Given the description of an element on the screen output the (x, y) to click on. 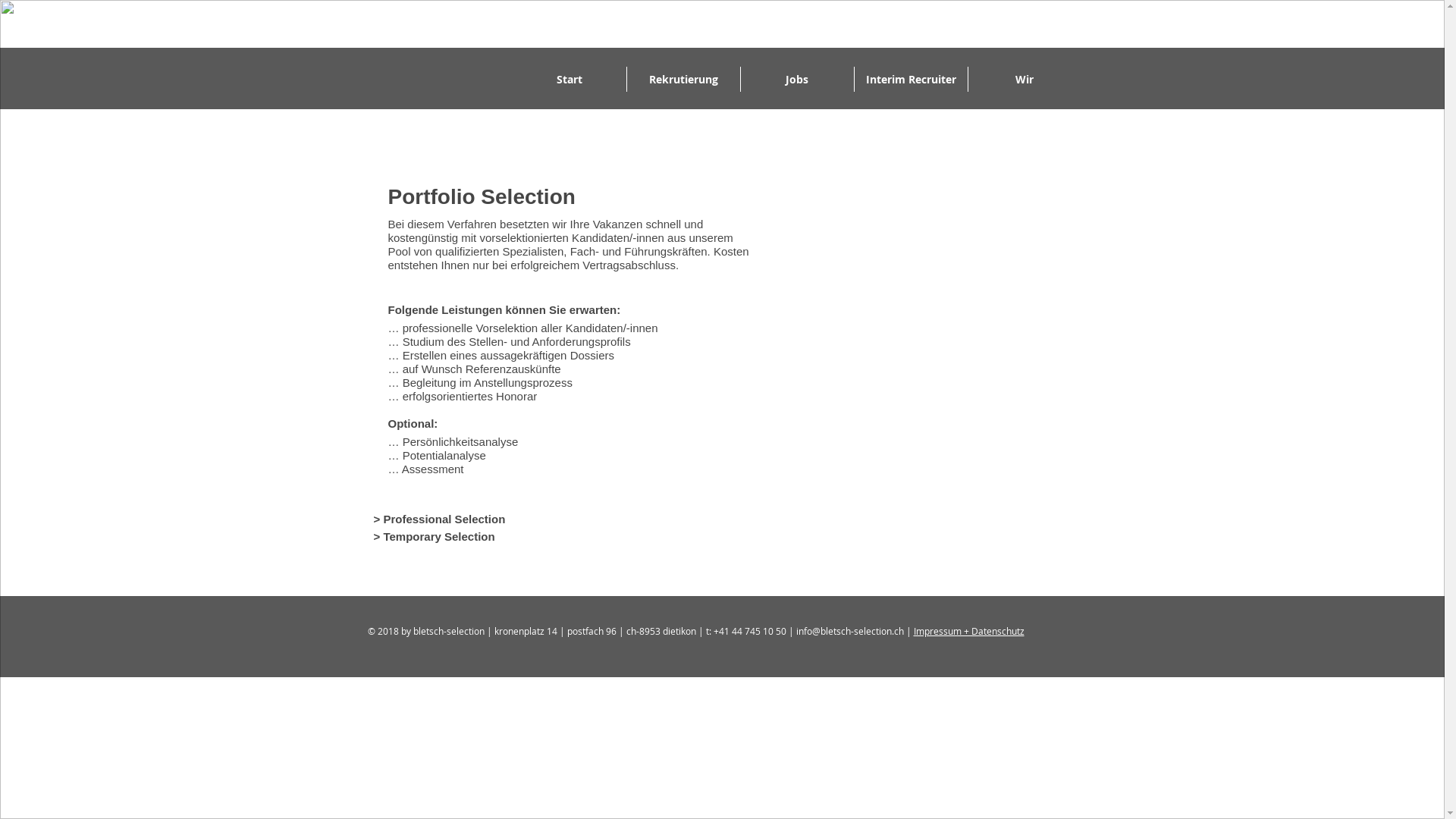
> Professional Selection Element type: text (439, 519)
info@bletsch-selection.ch Element type: text (849, 630)
Rekrutierung Element type: text (682, 78)
Start Element type: text (569, 78)
Wir Element type: text (1023, 78)
Impressum + Datenschutz Element type: text (968, 630)
Interim Recruiter Element type: text (909, 78)
> Temporary Selection Element type: text (433, 536)
Jobs Element type: text (796, 78)
